Given the description of an element on the screen output the (x, y) to click on. 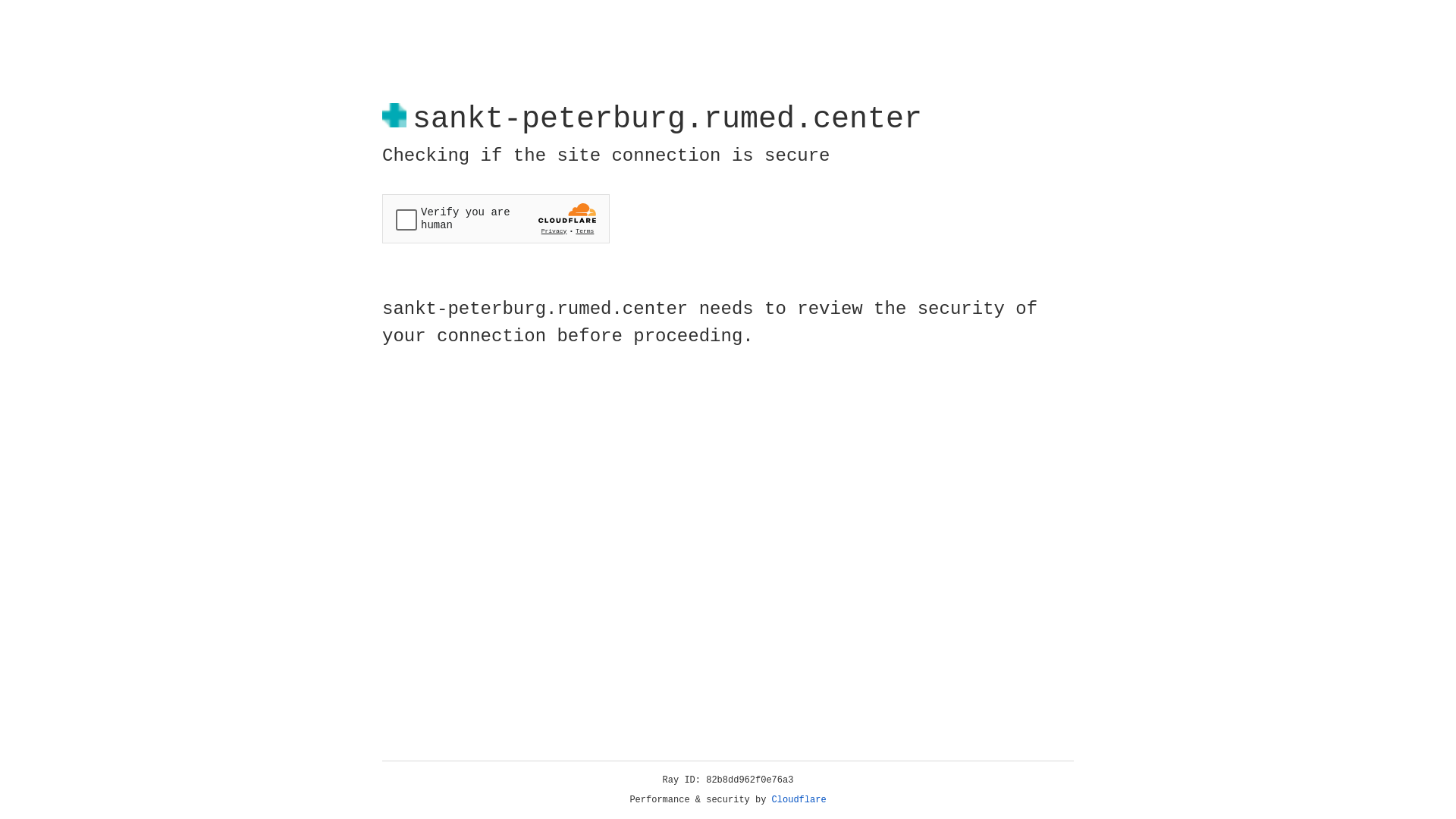
Cloudflare Element type: text (798, 799)
Widget containing a Cloudflare security challenge Element type: hover (495, 218)
